Given the description of an element on the screen output the (x, y) to click on. 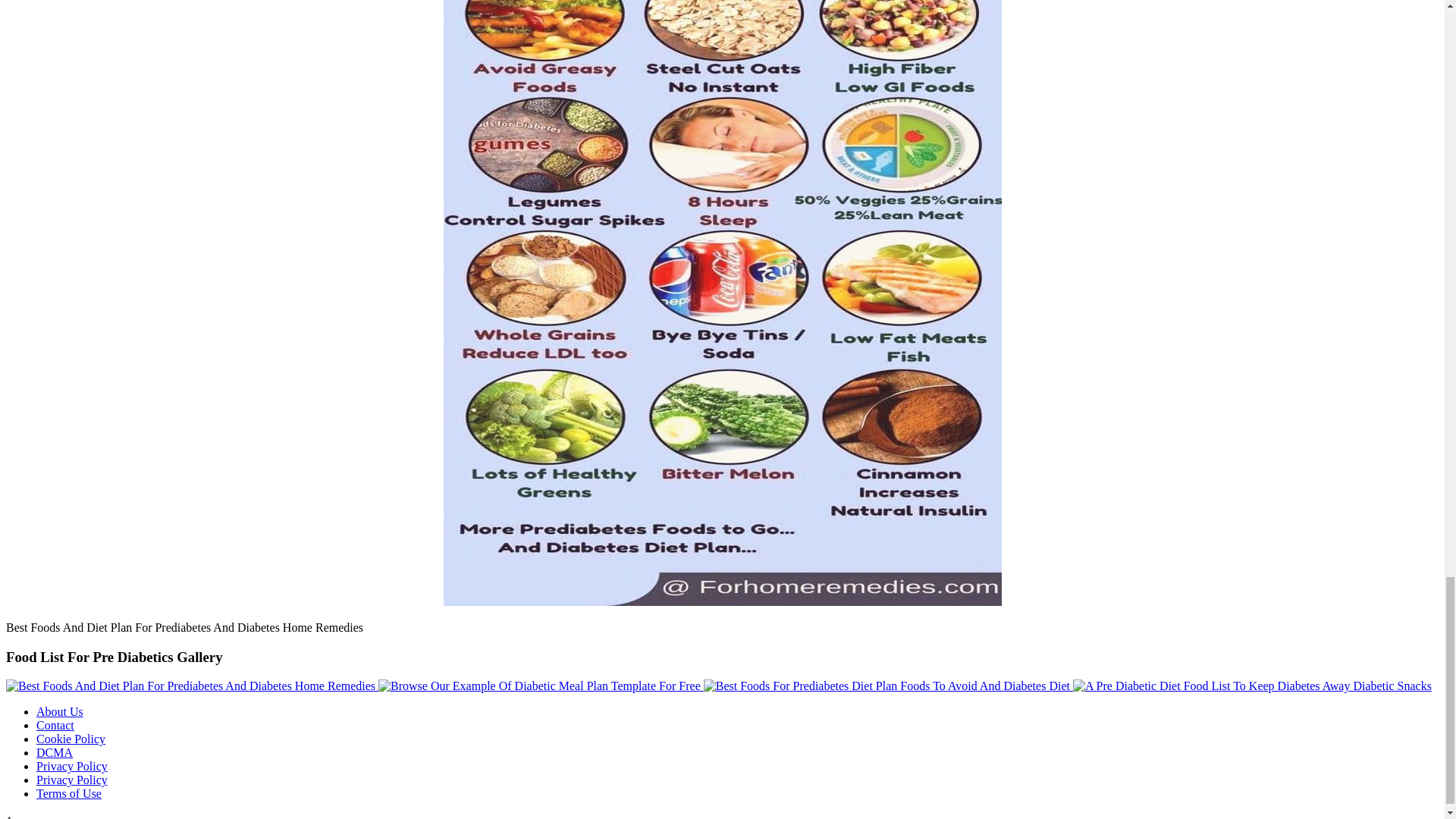
About Us (59, 711)
Terms of Use (68, 793)
Contact (55, 725)
Cookie Policy (70, 738)
Privacy Policy (71, 766)
Browse Our Example Of Diabetic Meal Plan Template For Free (539, 685)
Privacy Policy (71, 779)
Browse Our Example Of Diabetic Meal Plan Template For Free (540, 685)
